Given the description of an element on the screen output the (x, y) to click on. 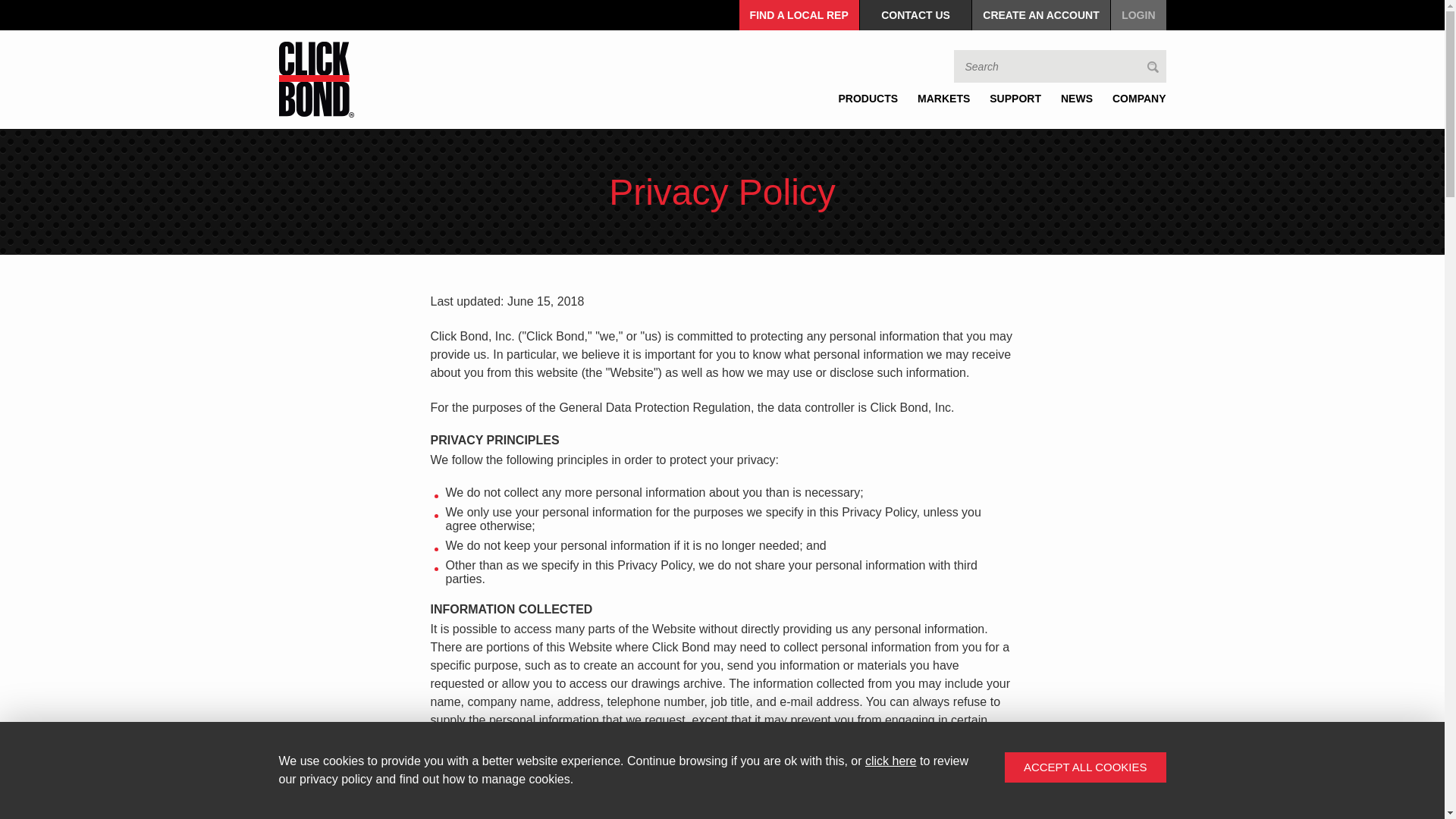
SUPPORT (1015, 98)
PRODUCTS (867, 98)
CREATE AN ACCOUNT (1040, 15)
Click Bond Logo (316, 79)
CONTACT US (915, 15)
COMPANY (1134, 98)
MARKETS (943, 98)
NEWS (1076, 98)
LOGIN (1138, 15)
FIND A LOCAL REP (799, 15)
